Given the description of an element on the screen output the (x, y) to click on. 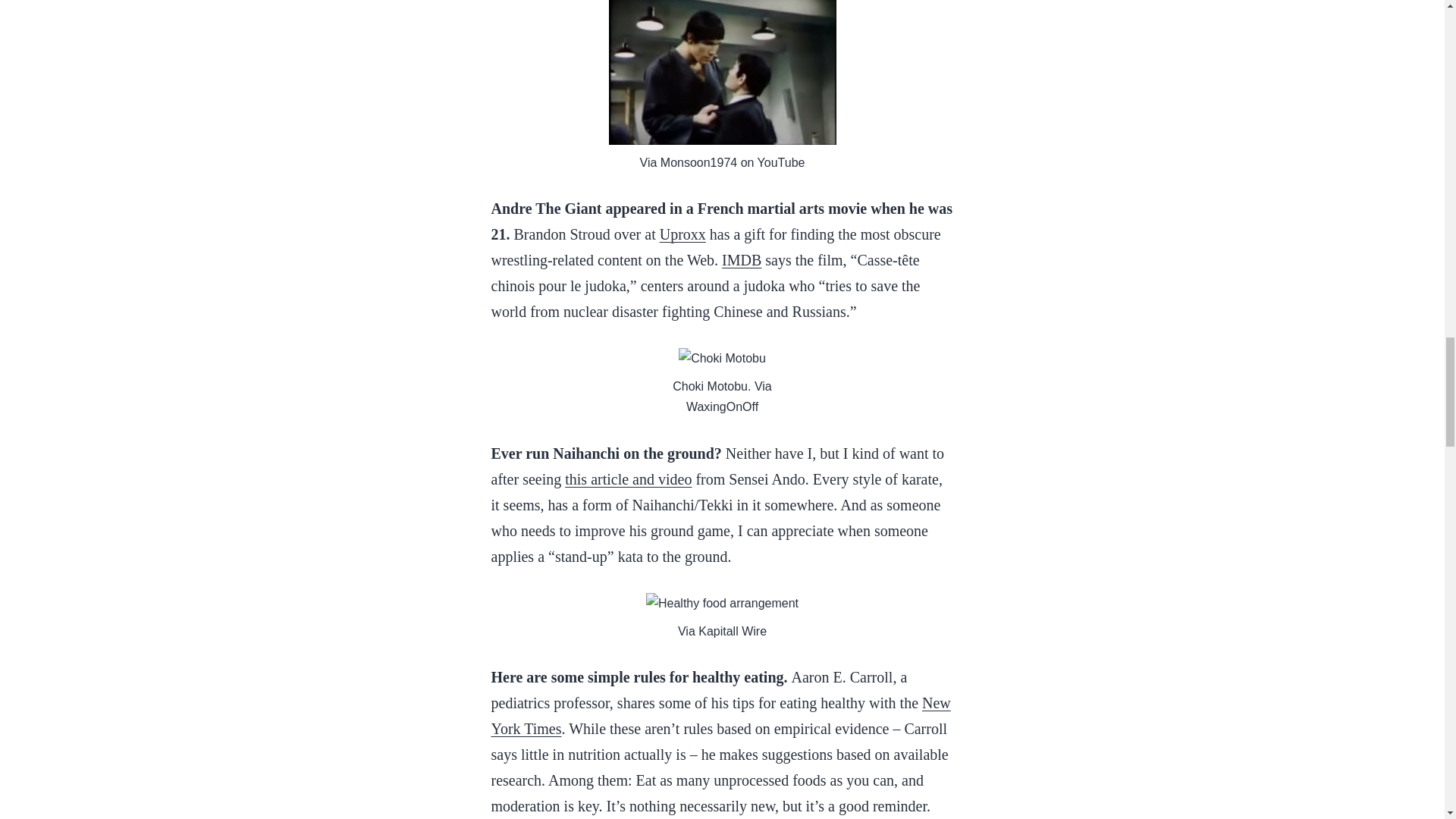
this article and video (627, 478)
IMDB (741, 259)
Uproxx (682, 234)
New York Times (721, 715)
